Given the description of an element on the screen output the (x, y) to click on. 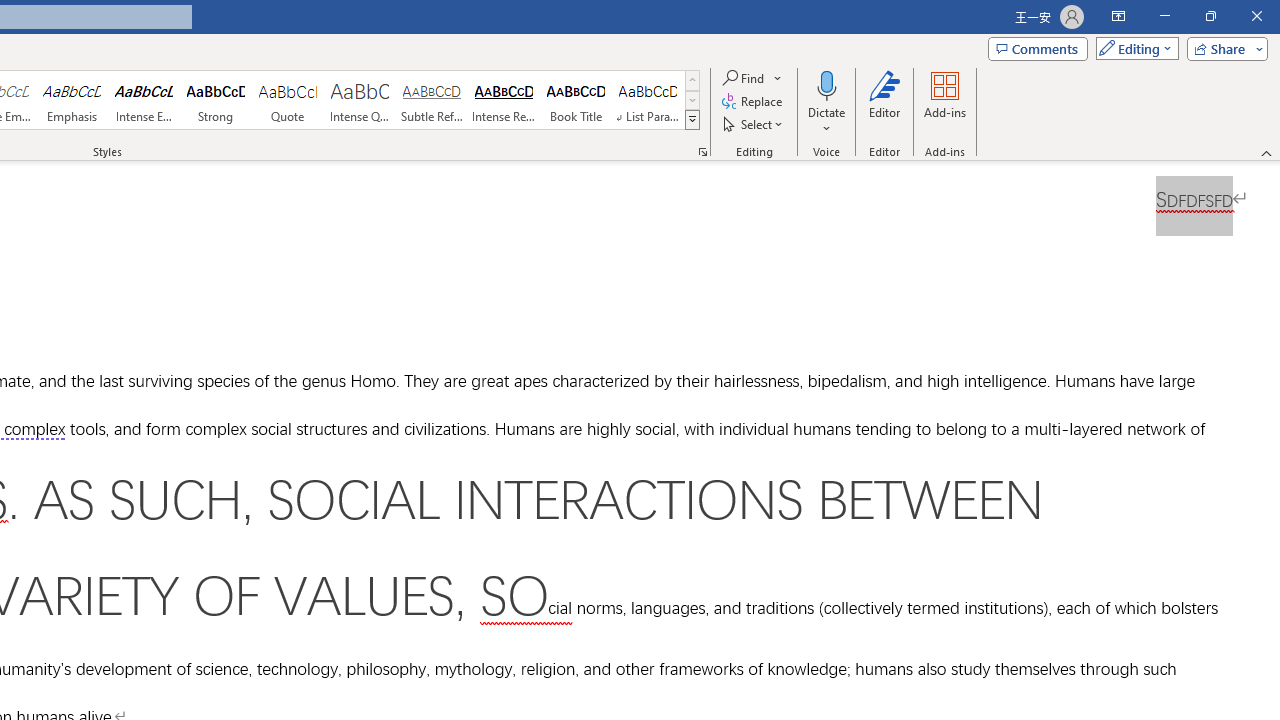
Strong (216, 100)
Quote (287, 100)
Intense Emphasis (143, 100)
Intense Reference (504, 100)
Intense Quote (359, 100)
Book Title (575, 100)
